Given the description of an element on the screen output the (x, y) to click on. 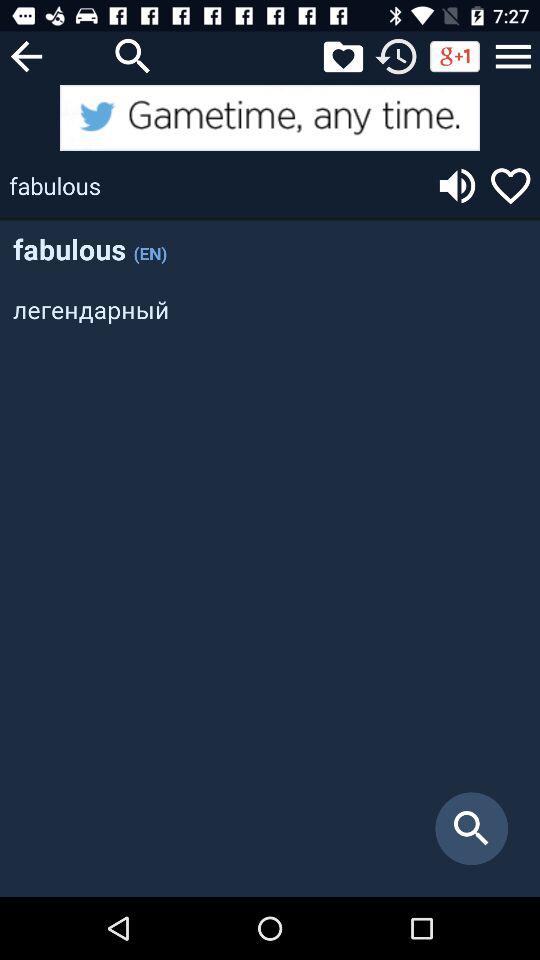
check the time (396, 56)
